Given the description of an element on the screen output the (x, y) to click on. 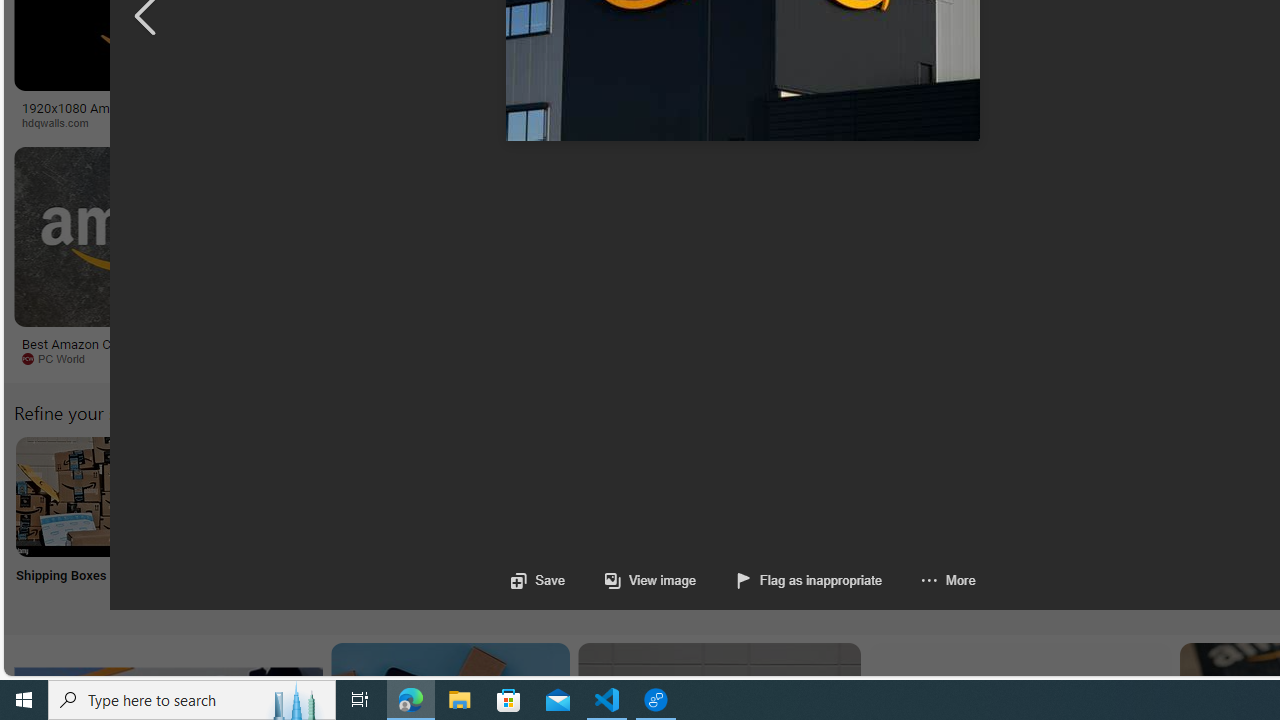
Shipping Boxes (74, 521)
Flag as inappropriate (789, 580)
Wish List (999, 521)
Clip Art (339, 521)
manilashaker.com (1162, 358)
aiophotoz.com (666, 359)
Amazon Online Shopping Search (207, 496)
aiophotoz.com (611, 358)
thewrap.com (826, 358)
Long Island Press (1043, 121)
